Given the description of an element on the screen output the (x, y) to click on. 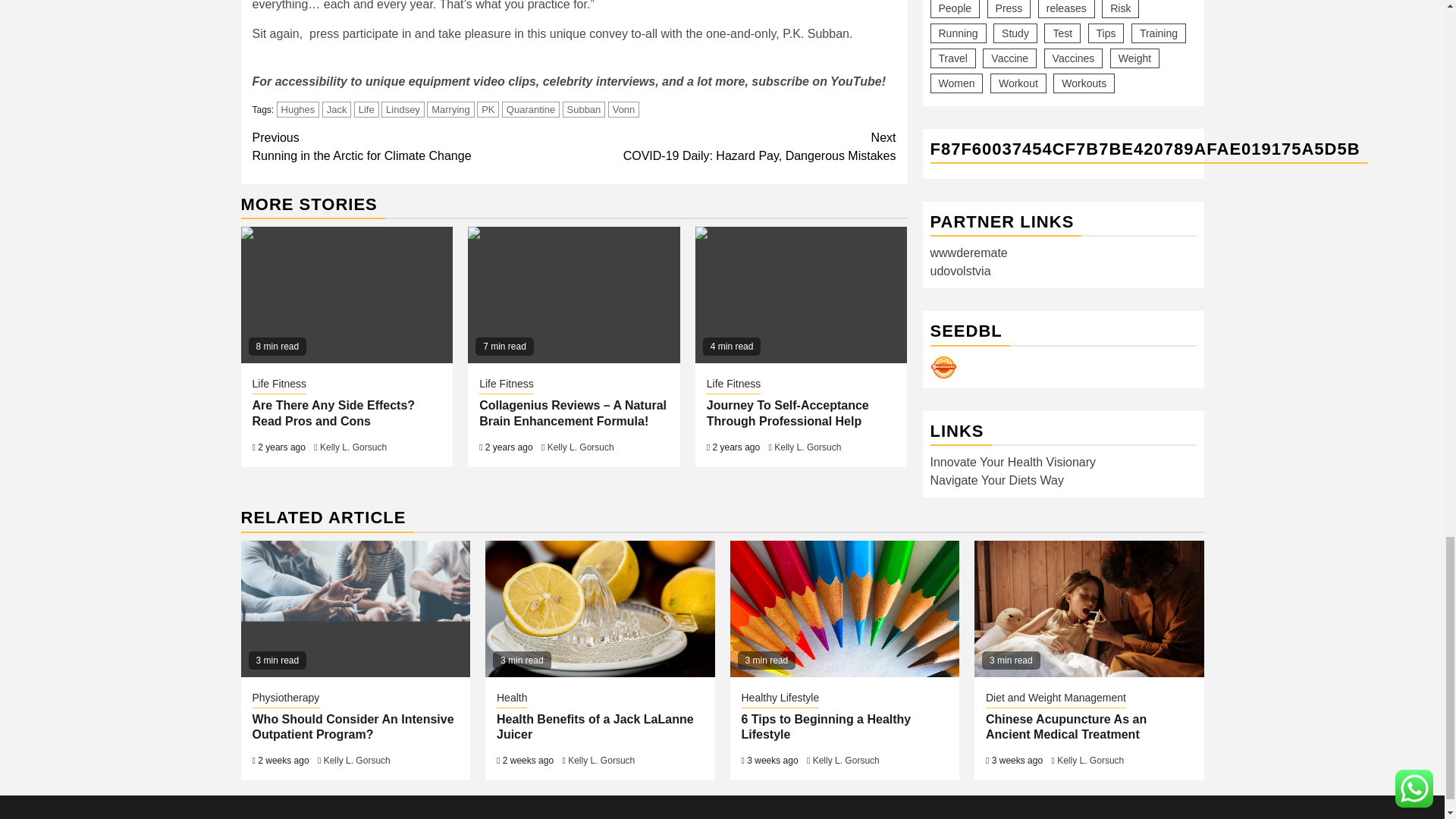
PK (488, 109)
Journey To Self-Acceptance Through Professional Help (801, 294)
Marrying (450, 109)
Subban (583, 109)
Life (365, 109)
Life Fitness (278, 384)
Health Benefits of a Jack LaLanne Juicer (599, 608)
Jack (336, 109)
6 Tips to Beginning a Healthy Lifestyle (844, 608)
Who Should Consider An Intensive Outpatient Program? (355, 608)
